Given the description of an element on the screen output the (x, y) to click on. 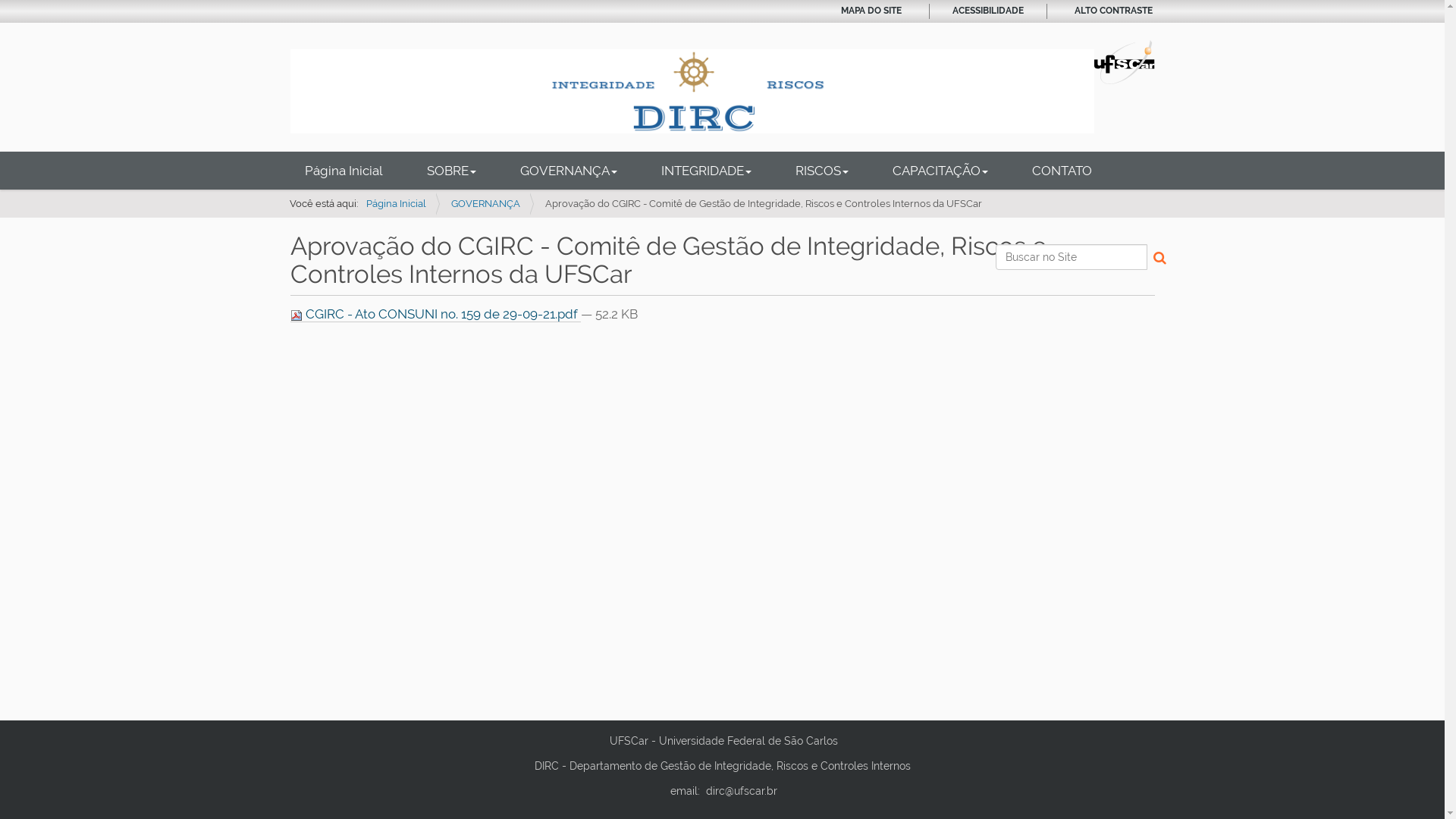
Portal UFSCar Element type: hover (1124, 60)
SOBRE Element type: text (451, 170)
CONTATO Element type: text (1061, 170)
ACESSIBILIDADE Element type: text (987, 10)
ALTO CONTRASTE Element type: text (1112, 10)
INTEGRIDADE Element type: text (705, 170)
Buscar no Site Element type: hover (1071, 256)
MAPA DO SITE Element type: text (870, 10)
DIRC Element type: hover (691, 91)
RISCOS Element type: text (821, 170)
CGIRC - Ato CONSUNI no. 159 de 29-09-21.pdf Element type: text (434, 314)
